Given the description of an element on the screen output the (x, y) to click on. 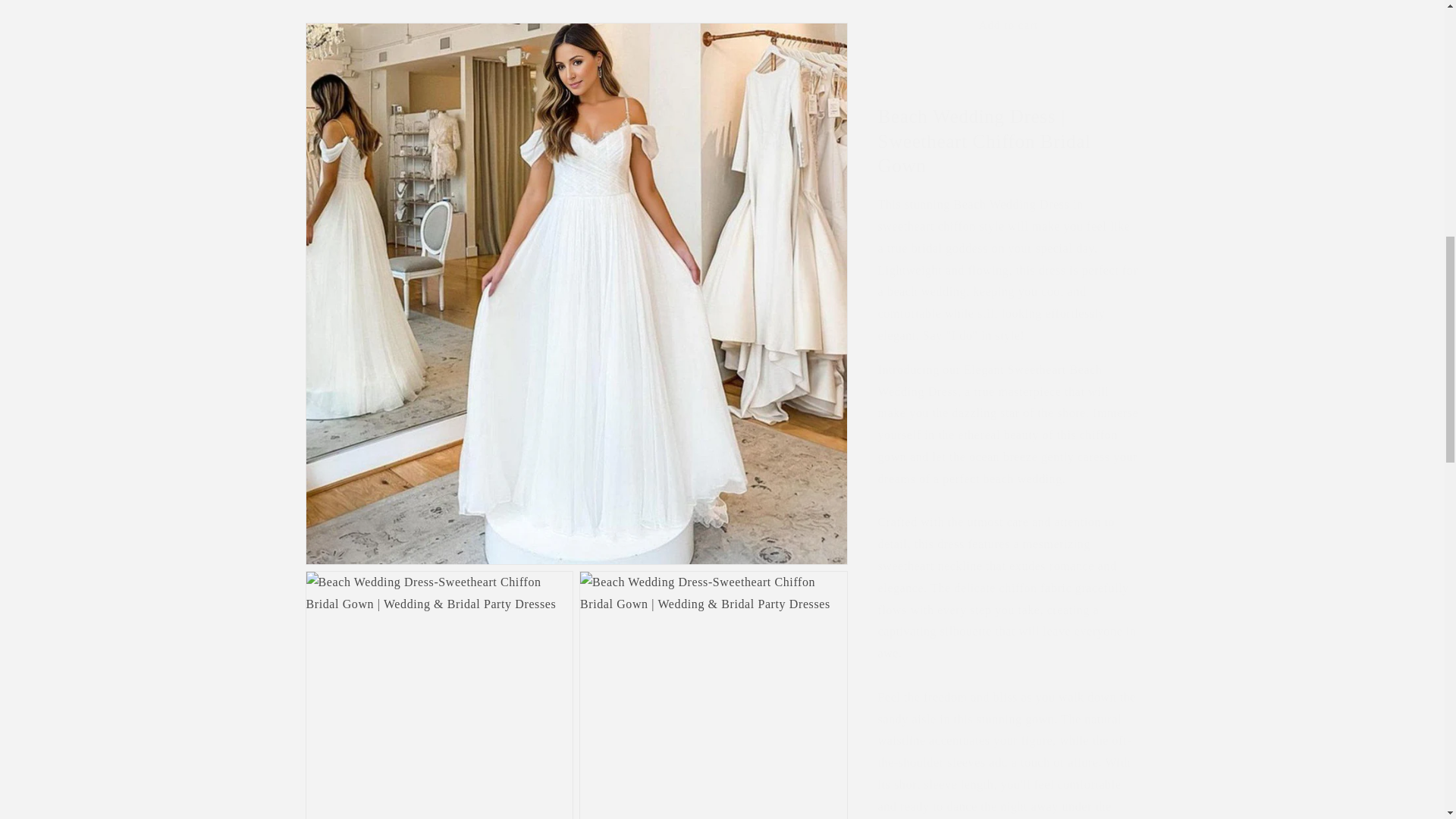
Open media 2 in modal (438, 110)
Open media 3 in modal (713, 110)
Open media 6 in modal (438, 590)
